Given the description of an element on the screen output the (x, y) to click on. 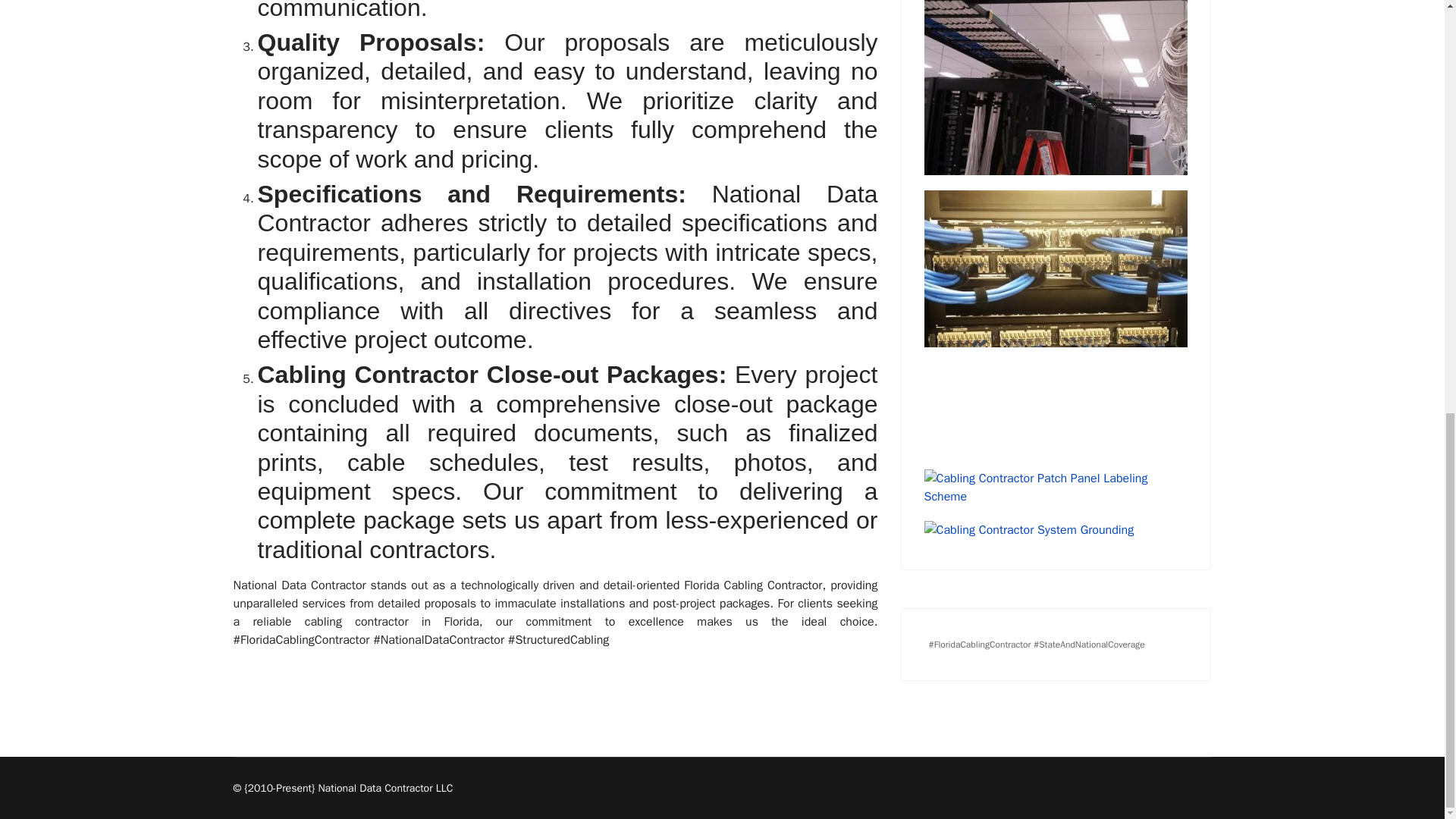
Cabling Contractor System Grounding (1055, 529)
Cabling Contractor Patch Panel Labeling Scheme (1055, 487)
Cabling Contractor Combing Trunl Cables (1055, 87)
Cabling Contractor Patch Panel Punch Down (1055, 322)
